Given the description of an element on the screen output the (x, y) to click on. 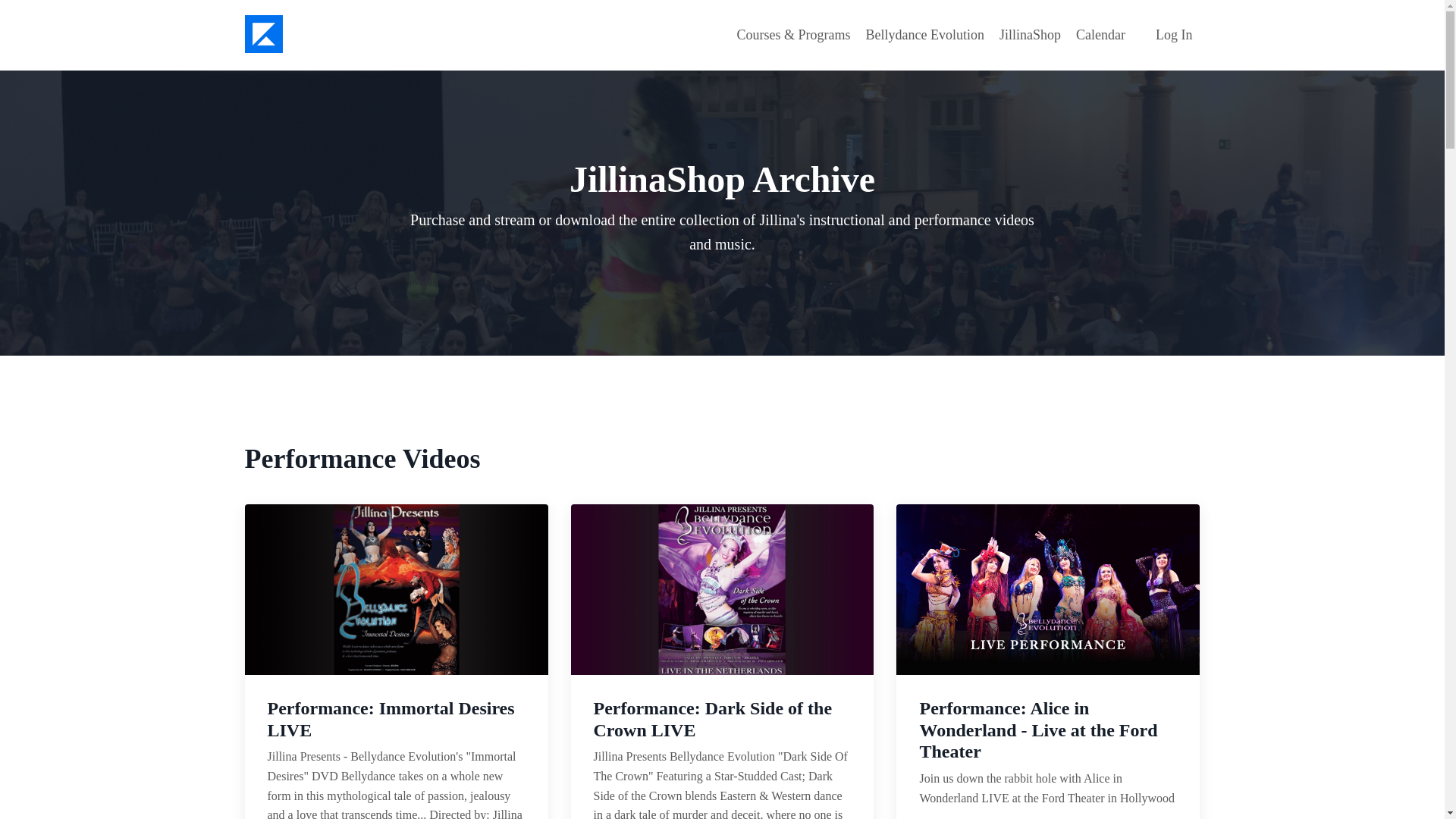
Calendar (1100, 34)
Bellydance Evolution (925, 34)
Log In (1174, 34)
JillinaShop (1029, 34)
